Given the description of an element on the screen output the (x, y) to click on. 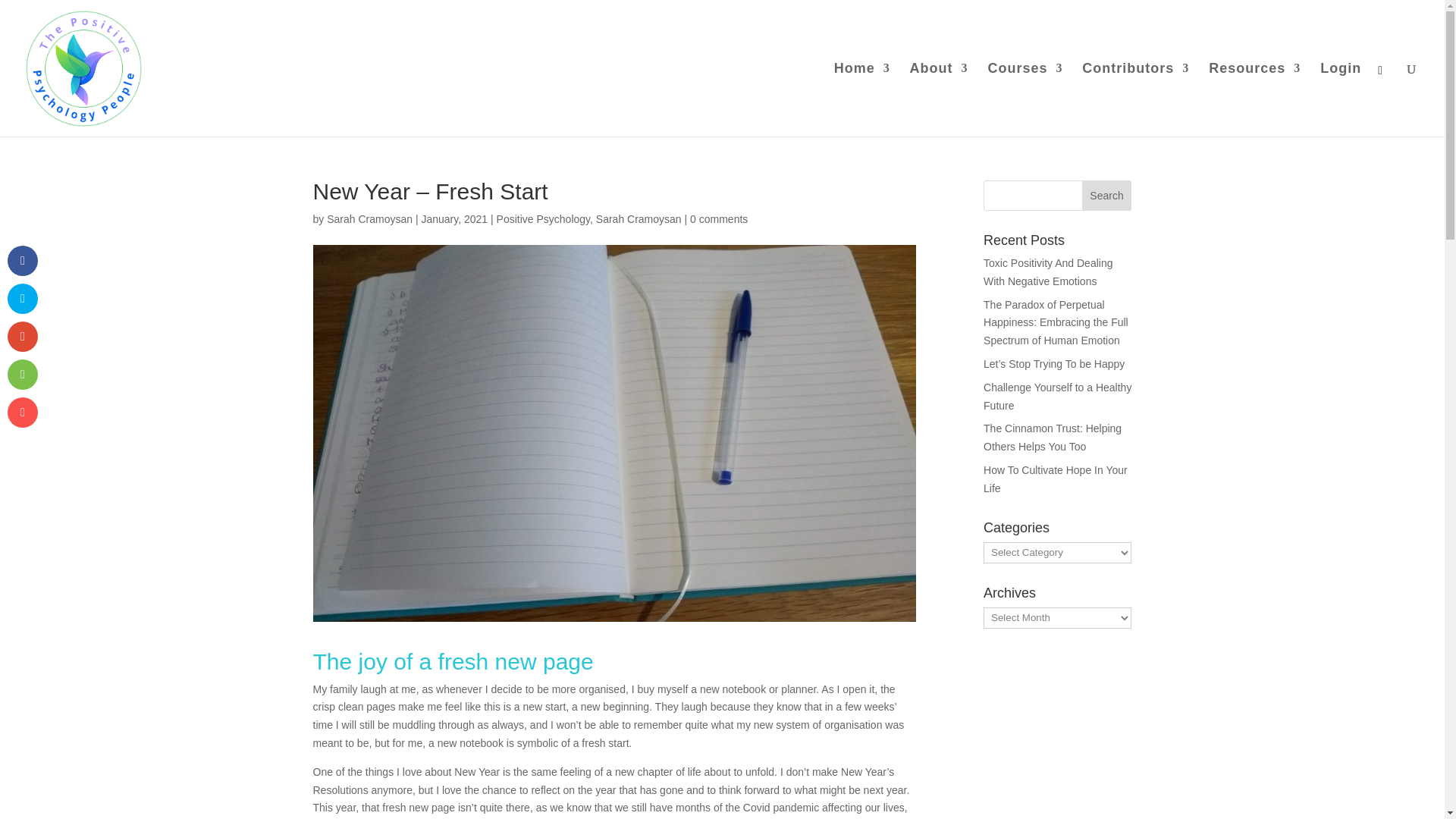
Courses (1024, 99)
Posts by Sarah Cramoysan (369, 218)
Resources (1254, 99)
Contributors (1135, 99)
Search (1106, 195)
